Given the description of an element on the screen output the (x, y) to click on. 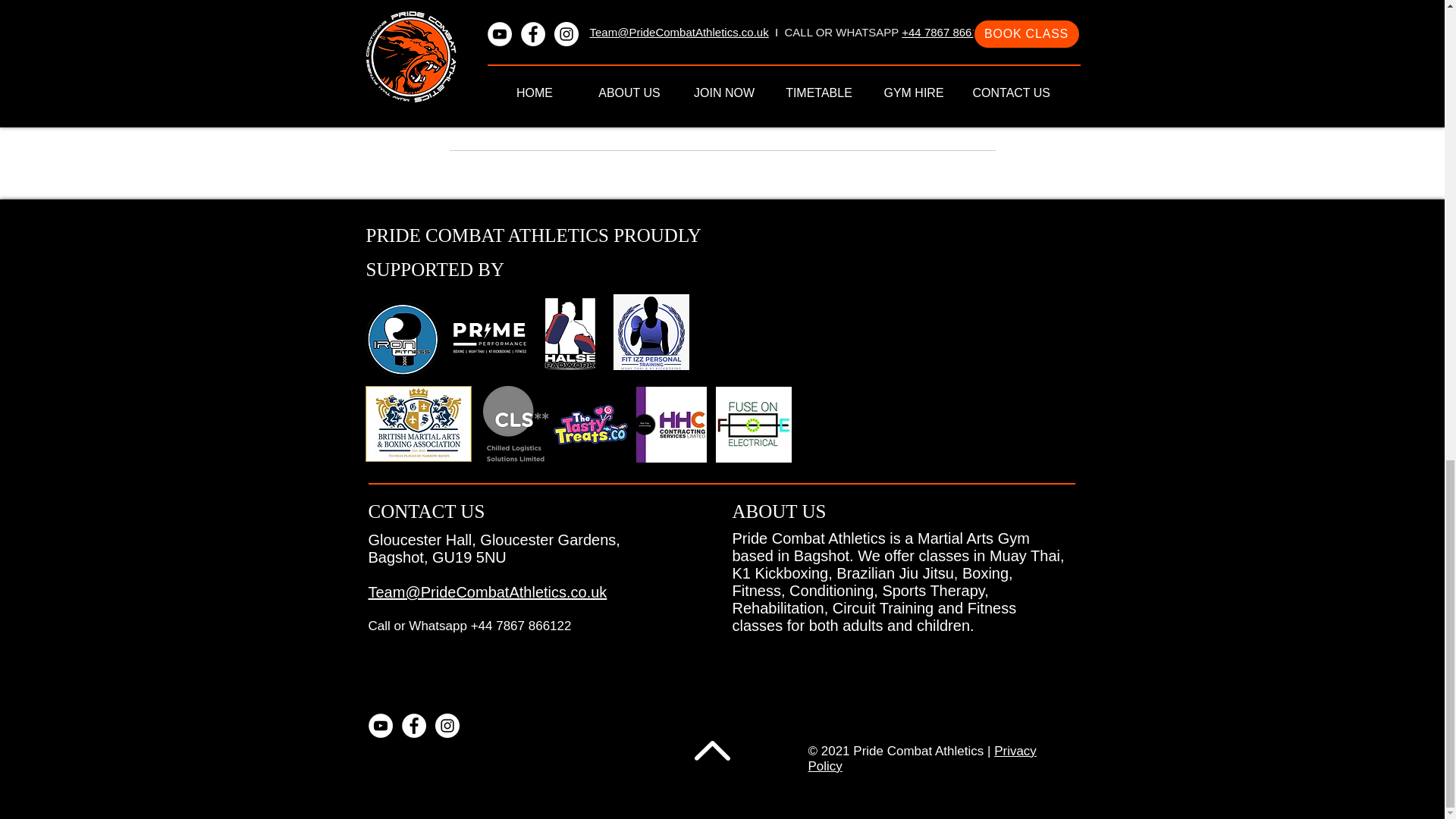
Prime Performance - Sam Logo.png (489, 335)
Privacy Policy (922, 758)
Priday Performance Training (570, 332)
HCC Contracting (670, 424)
FusOn Electrical Ltd (754, 424)
